Given the description of an element on the screen output the (x, y) to click on. 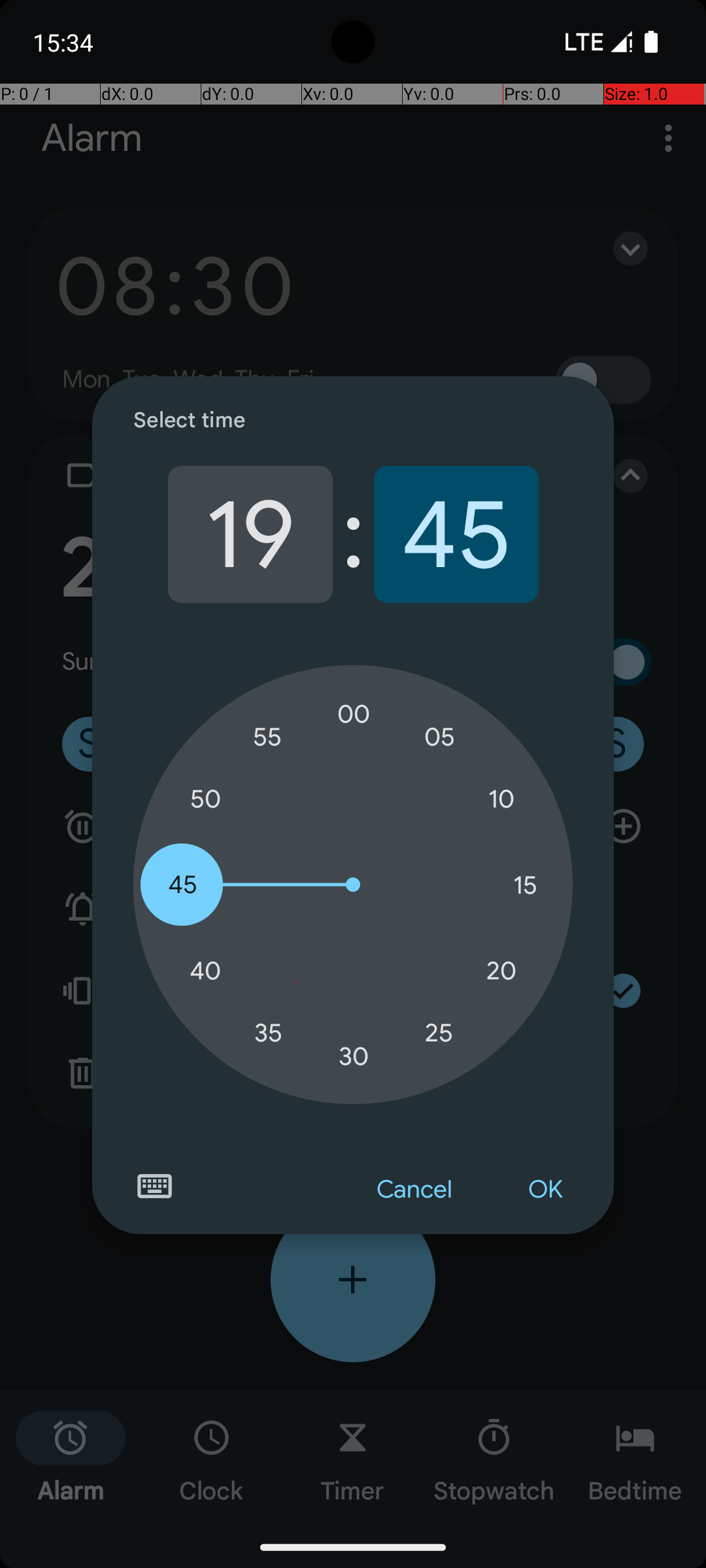
19 Element type: android.view.View (250, 534)
45 Element type: android.view.View (455, 534)
Switch to text input mode for the time input. Element type: android.widget.Button (154, 1186)
Cancel Element type: android.widget.Button (414, 1189)
OK Element type: android.widget.Button (545, 1189)
55 Element type: android.widget.TextView (267, 736)
50 Element type: android.widget.TextView (205, 798)
05 Element type: android.widget.TextView (439, 736)
10 Element type: android.widget.TextView (501, 798)
15 Element type: android.widget.TextView (524, 885)
40 Element type: android.widget.TextView (205, 970)
35 Element type: android.widget.TextView (267, 1032)
30 Element type: android.widget.TextView (353, 1056)
25 Element type: android.widget.TextView (438, 1032)
20 Element type: android.widget.TextView (501, 970)
